Given the description of an element on the screen output the (x, y) to click on. 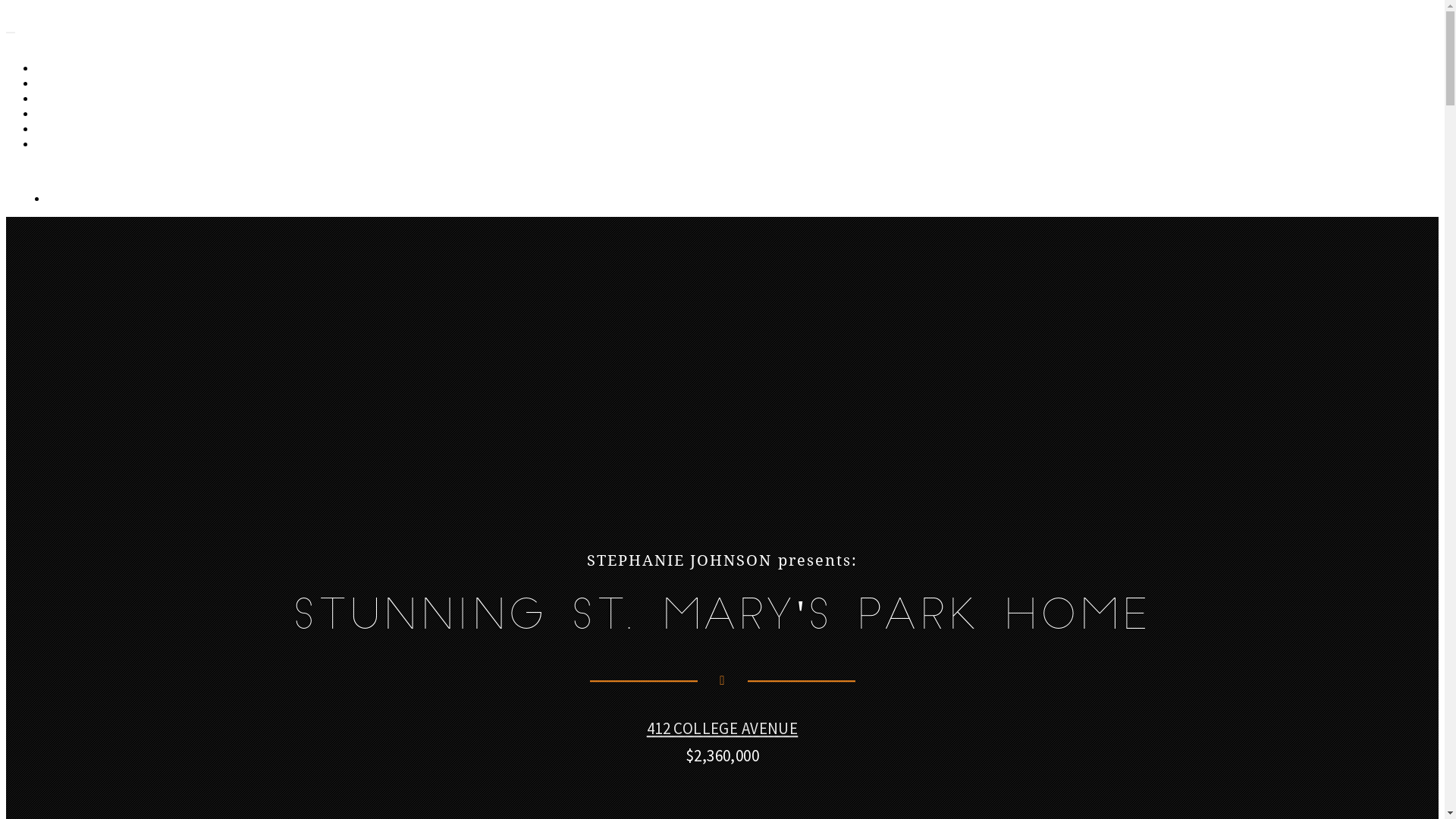
GALLERY Element type: text (66, 68)
Toggle navigation Element type: text (10, 32)
LOCATION Element type: text (70, 129)
VIDEO TOUR Element type: text (75, 83)
SCHEDULE & CONTACT Element type: text (100, 144)
412 COLLEGE AVENUE Element type: text (722, 728)
412 College Avenue Element type: text (120, 28)
FEATURES Element type: text (70, 113)
FLOOR PLANS Element type: text (78, 98)
